Given the description of an element on the screen output the (x, y) to click on. 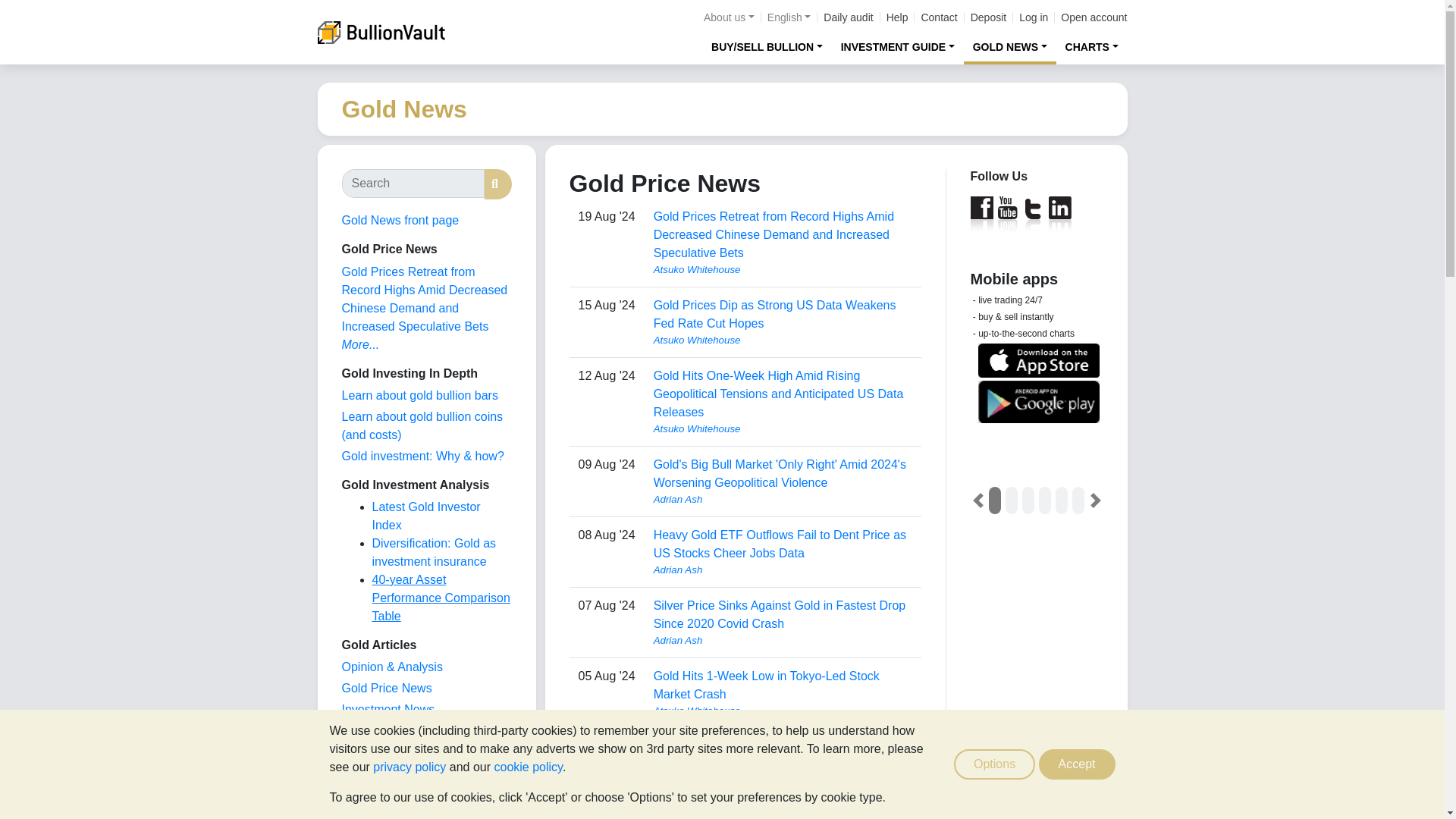
View user profile. (782, 340)
Gold in History (380, 793)
Open account (1093, 17)
Deposit (988, 17)
INVESTMENT GUIDE (897, 46)
View user profile. (782, 269)
Gold Investor Index (393, 730)
View user profile. (782, 570)
View user profile. (782, 499)
Options (994, 764)
